Given the description of an element on the screen output the (x, y) to click on. 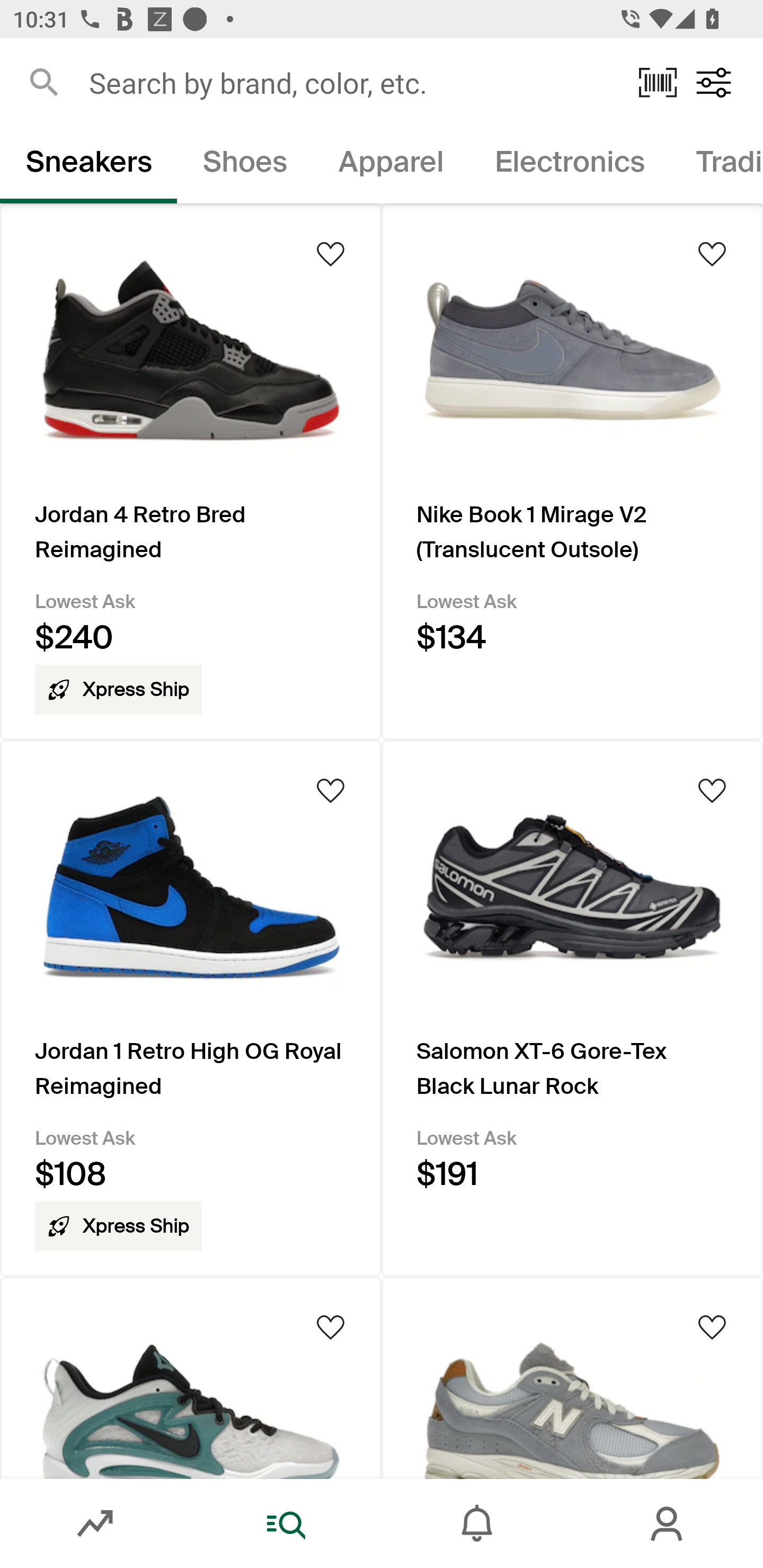
Search by brand, color, etc. (351, 82)
Shoes (244, 165)
Apparel (390, 165)
Electronics (569, 165)
Product Image (190, 1377)
Product Image (572, 1377)
Market (95, 1523)
Inbox (476, 1523)
Account (667, 1523)
